Given the description of an element on the screen output the (x, y) to click on. 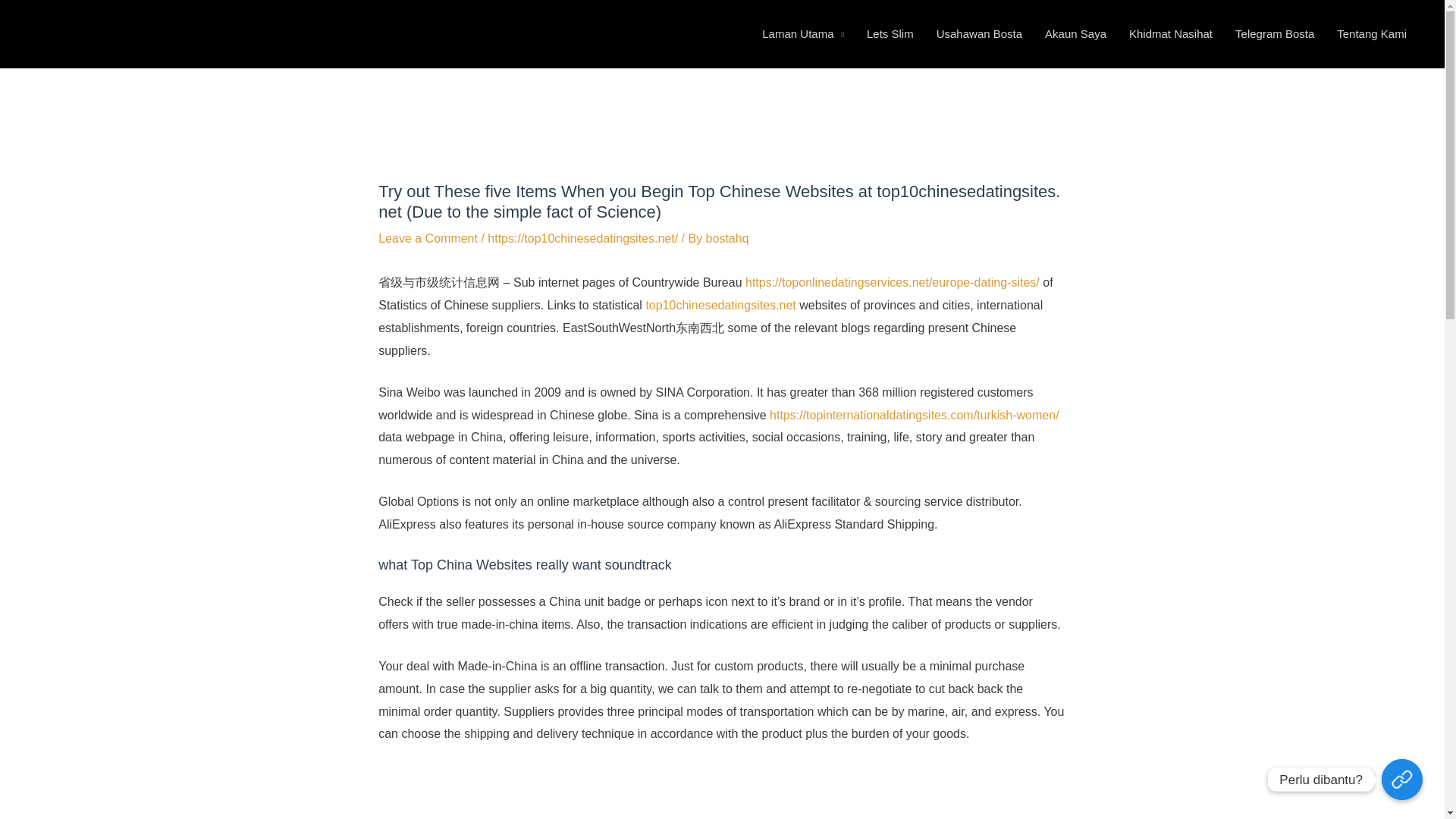
Tentang Kami (1371, 33)
Lets Slim (890, 33)
Telegram Bosta (1274, 33)
bostahq (727, 237)
Laman Utama (803, 33)
Akaun Saya (1075, 33)
top10chinesedatingsites.net (719, 305)
View all posts by bostahq (727, 237)
Leave a Comment (427, 237)
Usahawan Bosta (978, 33)
